Given the description of an element on the screen output the (x, y) to click on. 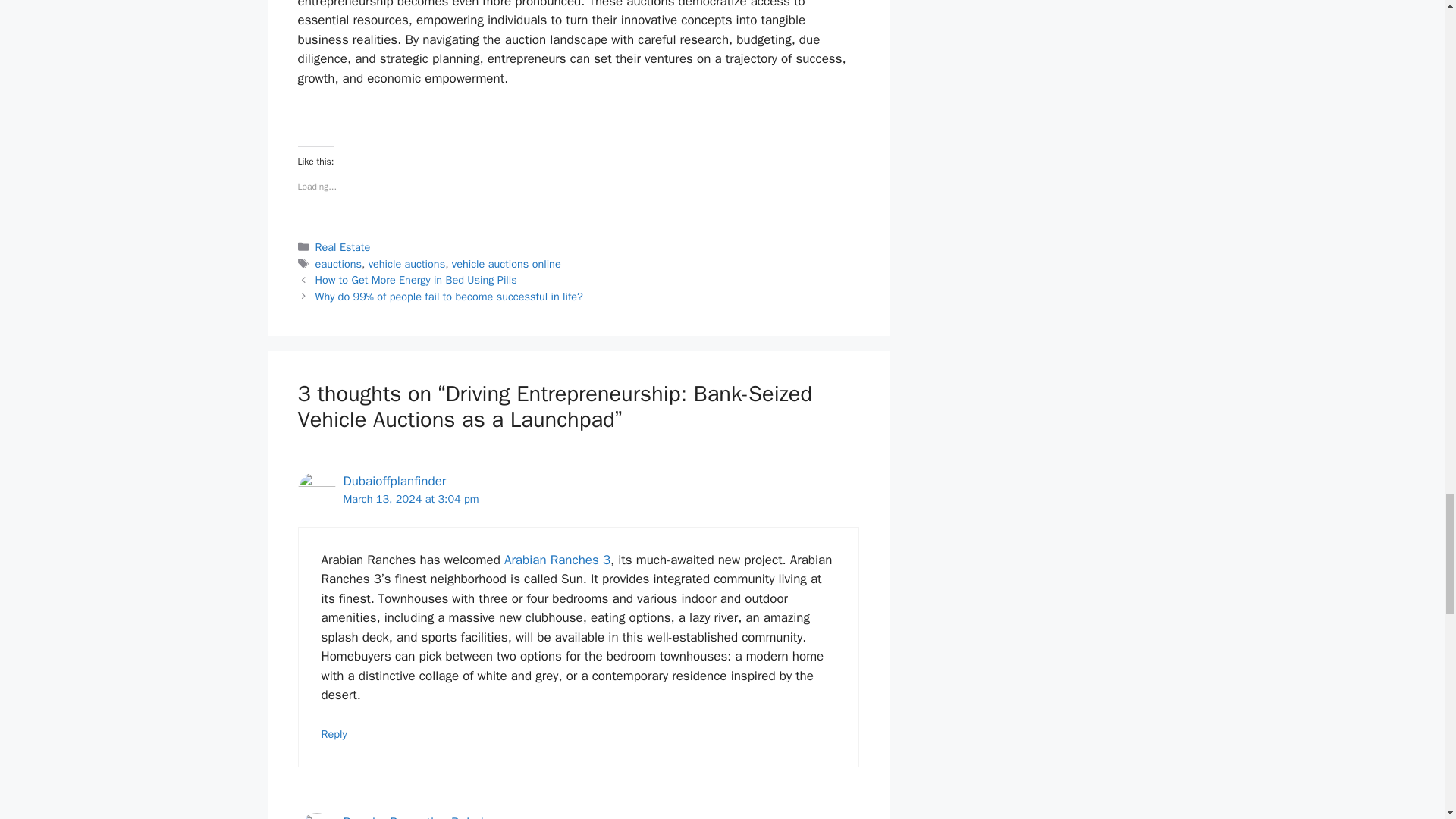
vehicle auctions online (505, 264)
eauctions (338, 264)
vehicle auctions (406, 264)
Arabian Ranches 3 (556, 560)
March 13, 2024 at 3:04 pm (410, 499)
Real Estate (343, 246)
Dubaioffplanfinder (393, 480)
How to Get More Energy in Bed Using Pills (415, 279)
Reply (334, 734)
